Given the description of an element on the screen output the (x, y) to click on. 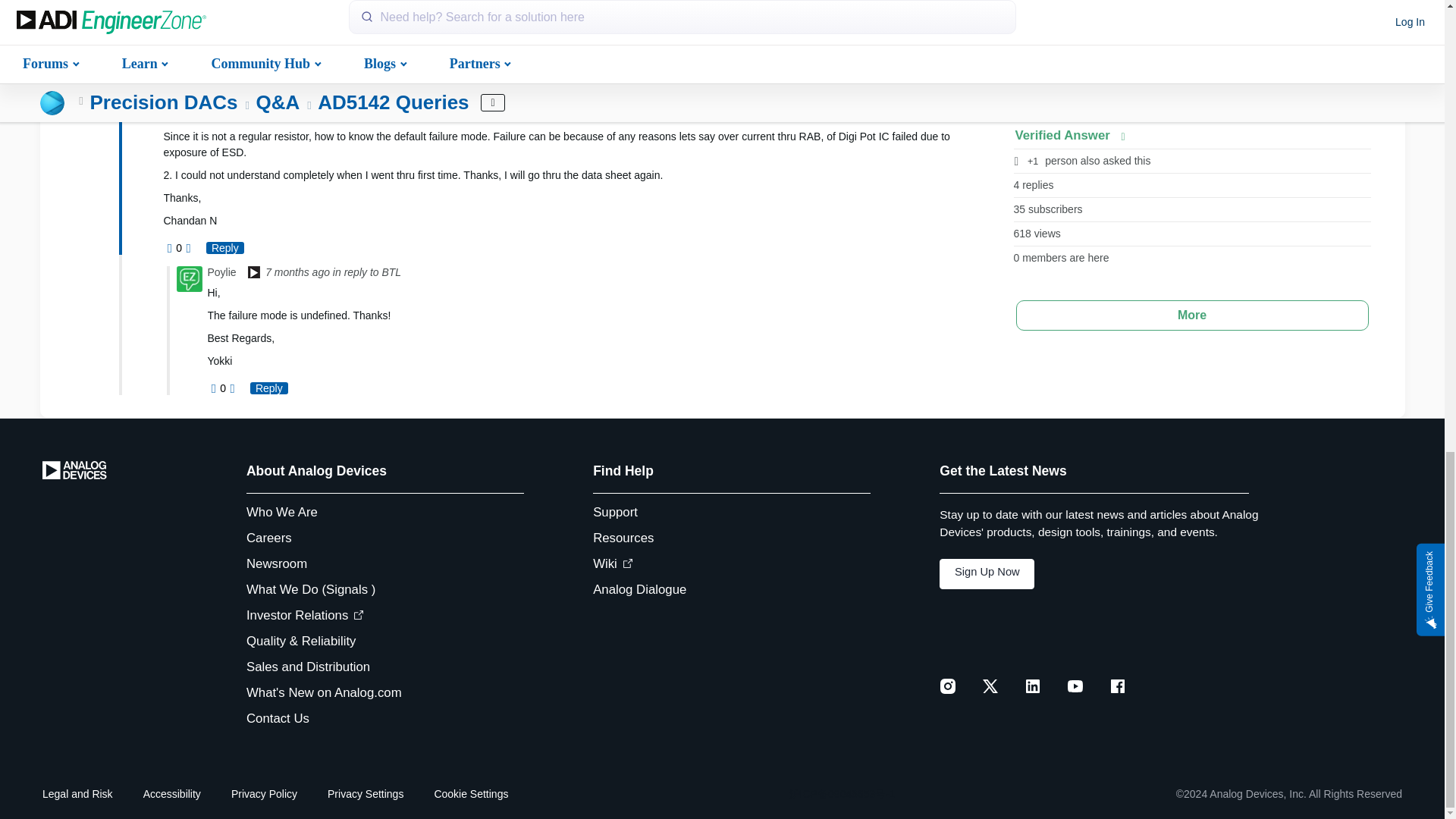
Analog Employees (253, 273)
